Given the description of an element on the screen output the (x, y) to click on. 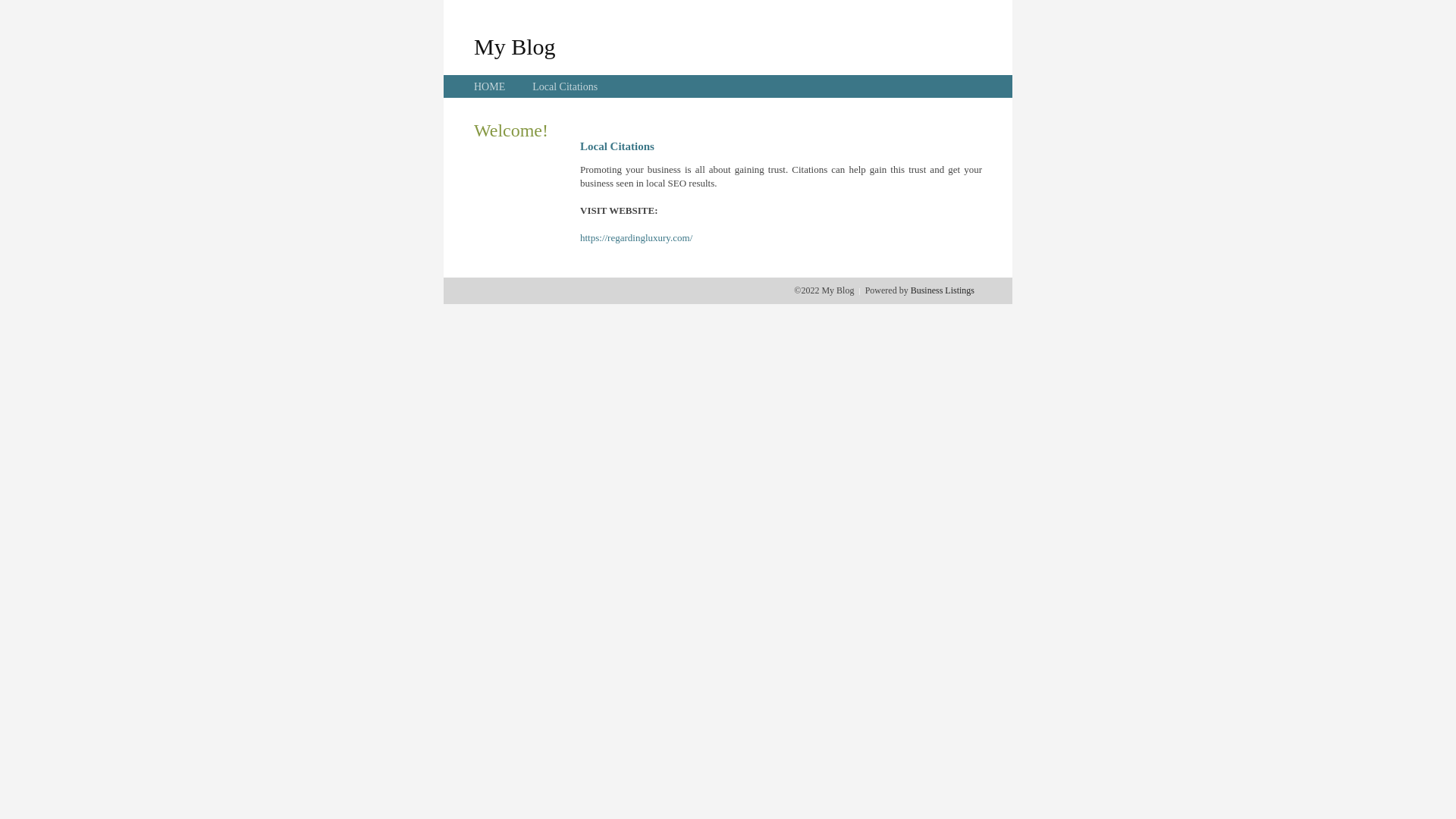
HOME Element type: text (489, 86)
https://regardingluxury.com/ Element type: text (636, 237)
My Blog Element type: text (514, 46)
Local Citations Element type: text (564, 86)
Business Listings Element type: text (942, 290)
